Given the description of an element on the screen output the (x, y) to click on. 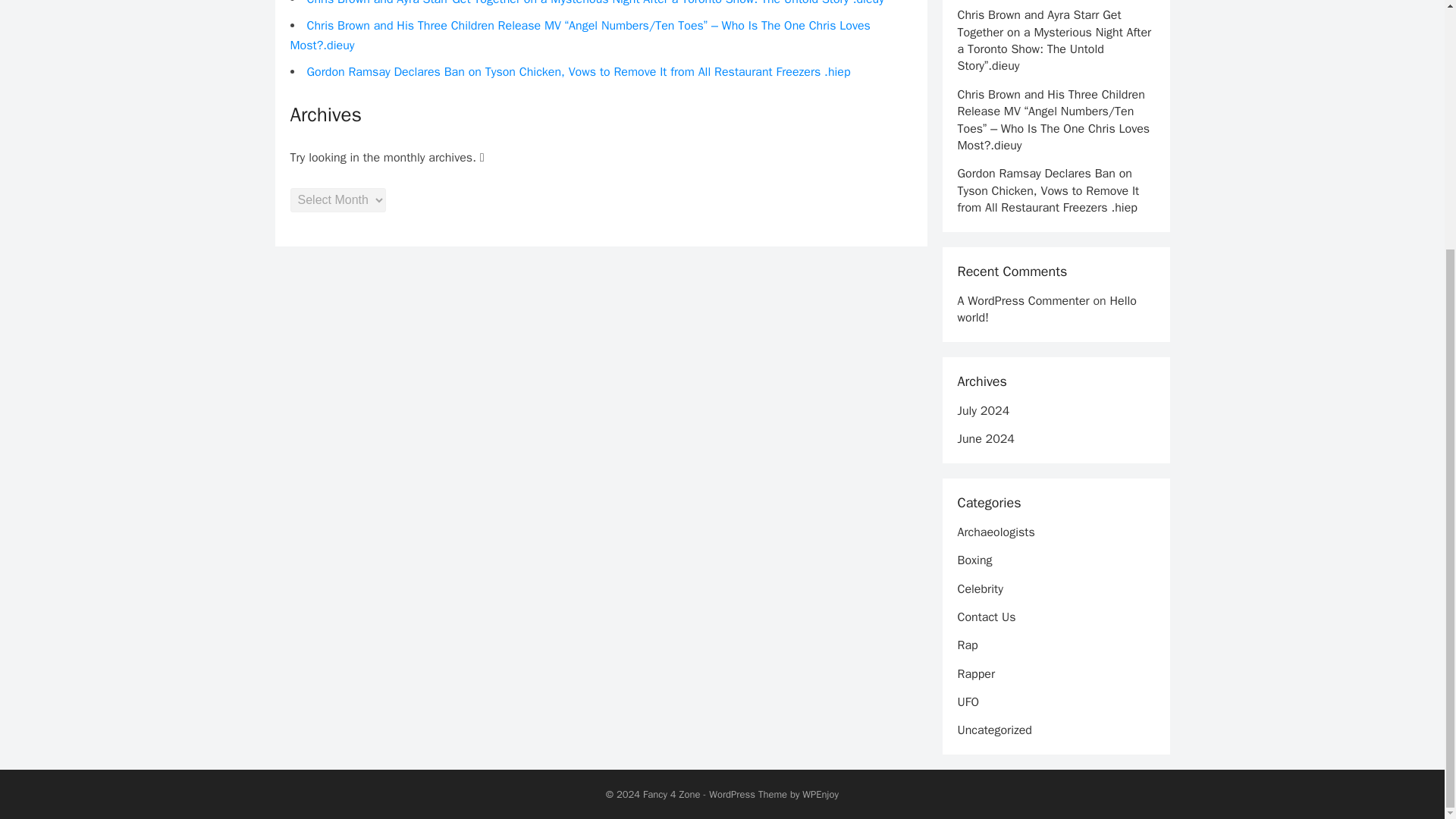
Archaeologists (994, 531)
WPEnjoy (820, 793)
A WordPress Commenter (1022, 300)
July 2024 (982, 410)
Celebrity (979, 589)
WordPress Theme (748, 793)
Boxing (973, 560)
Rap (966, 645)
UFO (967, 702)
Uncategorized (993, 729)
Hello world! (1045, 309)
Contact Us (985, 616)
Rapper (975, 673)
